Given the description of an element on the screen output the (x, y) to click on. 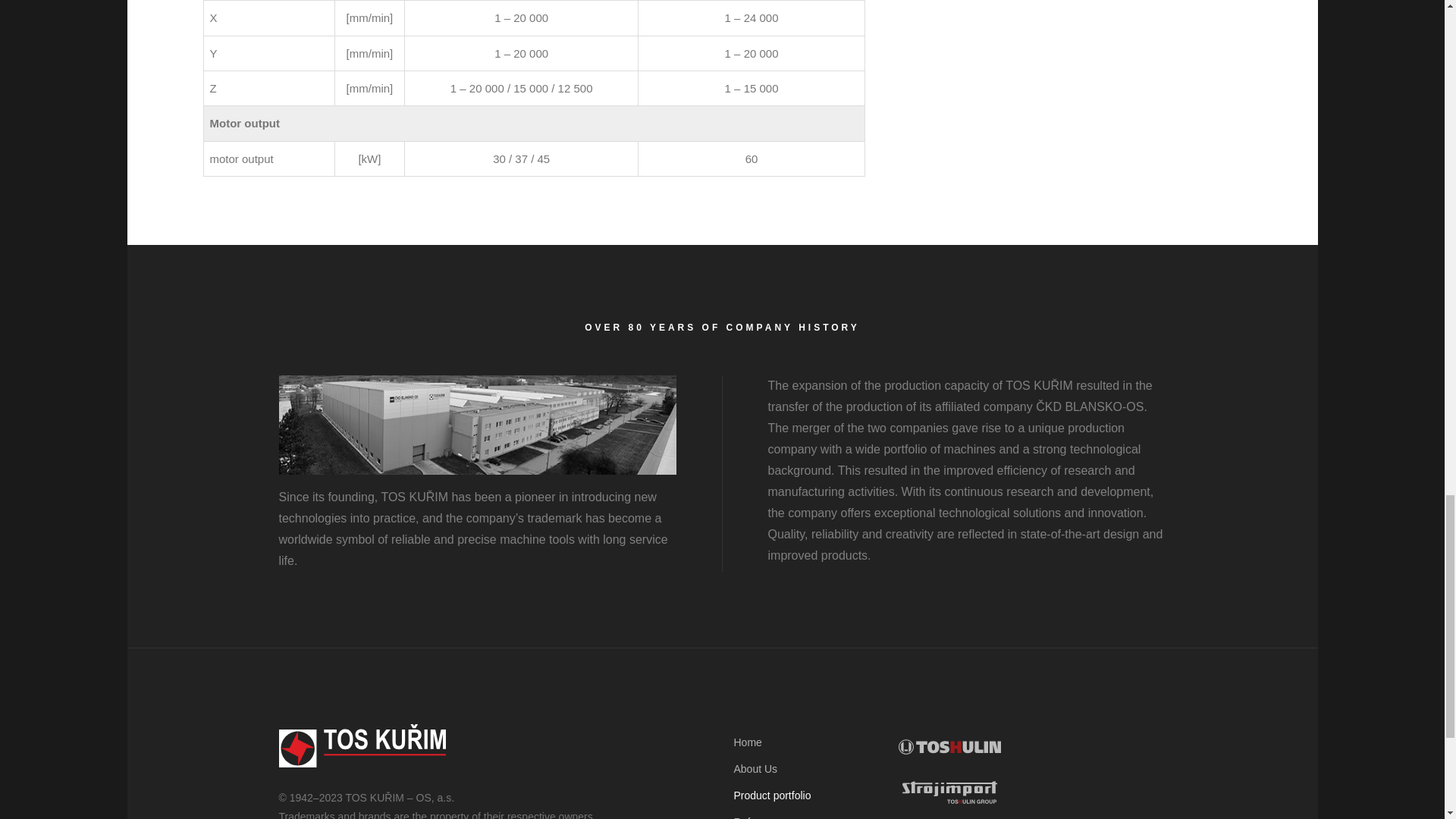
About Us (755, 768)
Product portfolio (771, 795)
References (761, 817)
Home (747, 742)
